Given the description of an element on the screen output the (x, y) to click on. 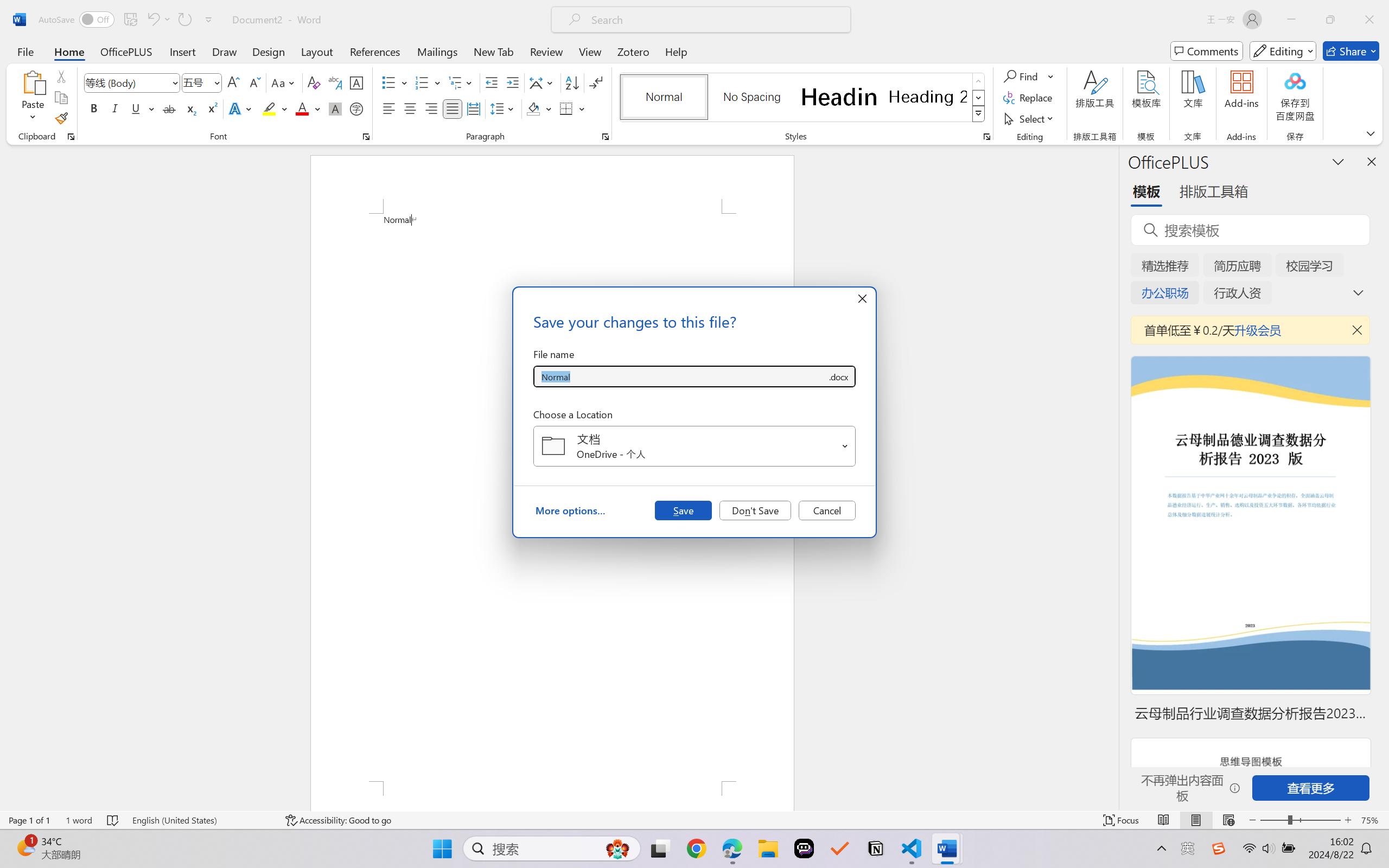
Poe (804, 848)
Open (844, 446)
Font Size (196, 82)
Superscript (210, 108)
Show/Hide Editing Marks (595, 82)
Spelling and Grammar Check No Errors (113, 819)
Numbering (421, 82)
Quick Access Toolbar (127, 19)
Change Case (284, 82)
